Given the description of an element on the screen output the (x, y) to click on. 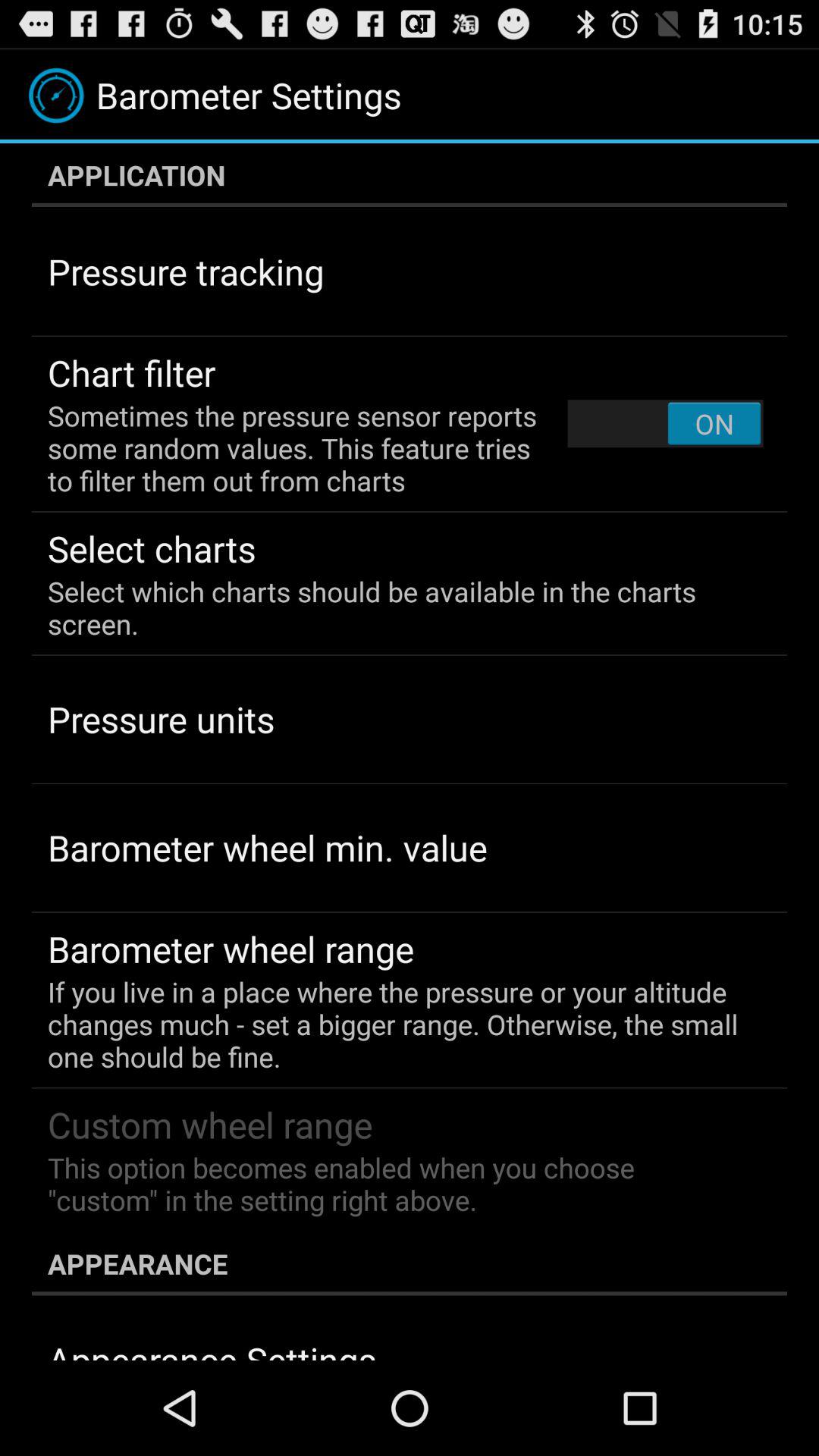
select the pressure units app (160, 719)
